Given the description of an element on the screen output the (x, y) to click on. 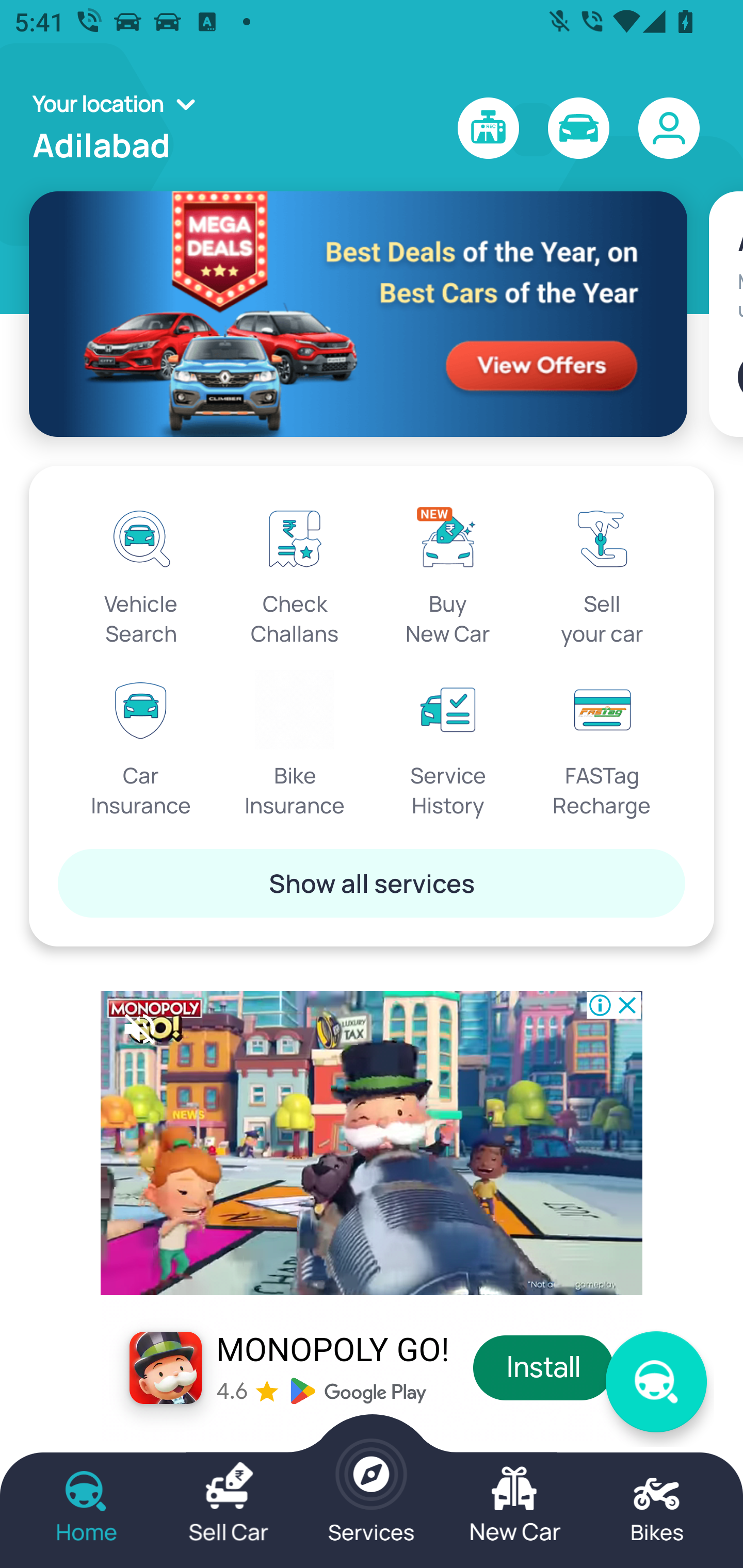
Your location Adilabad (119, 128)
Add vehicle (740, 376)
Vehicle
Search (141, 572)
Check
Challans (294, 572)
Buy
New Car (447, 572)
Sell
your car (601, 572)
Car
Insurance (141, 744)
Bike
Insurance (294, 744)
Service
History (447, 744)
FASTag Recharge (601, 744)
Show all services (371, 882)
Install (543, 1367)
